Given the description of an element on the screen output the (x, y) to click on. 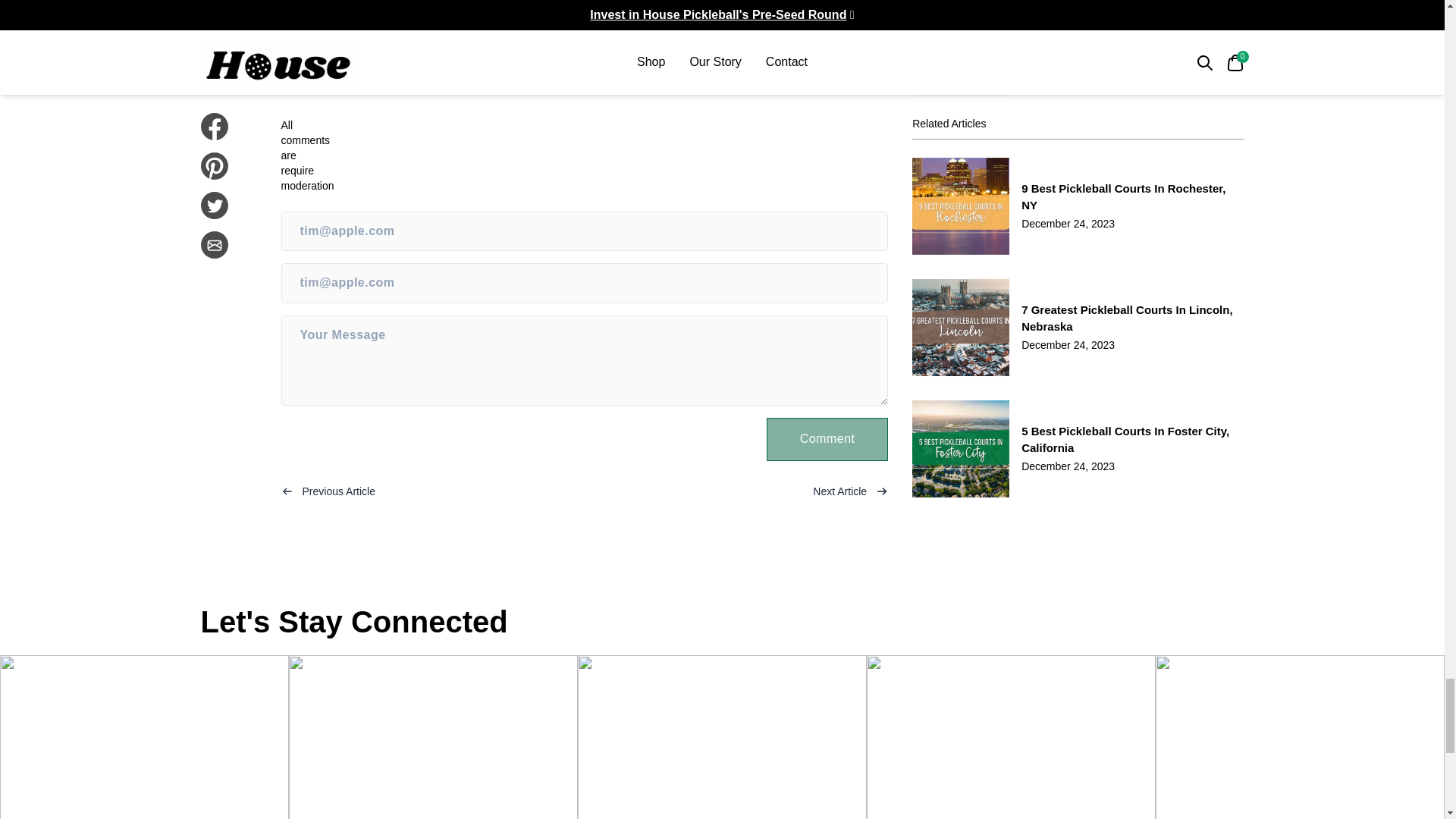
Comment (827, 438)
